Given the description of an element on the screen output the (x, y) to click on. 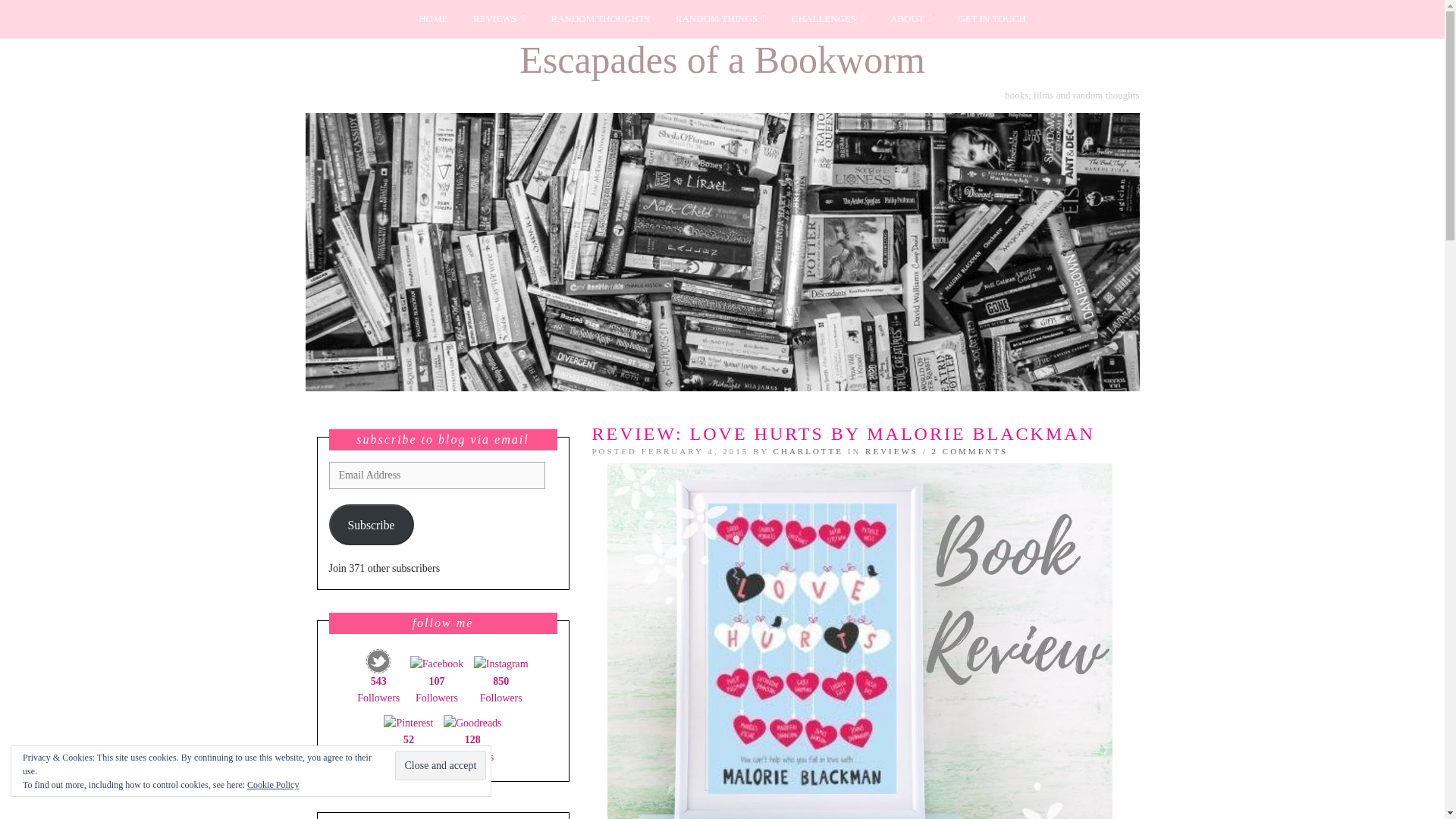
GET IN TOUCH (991, 19)
Subscribe (371, 524)
View all posts in Reviews (891, 450)
RANDOM THOUGHTS (599, 19)
REVIEWS   (499, 19)
ABOUT   (911, 19)
HOME (432, 19)
Close and accept (440, 765)
Escapades of a Bookworm (721, 59)
